Given the description of an element on the screen output the (x, y) to click on. 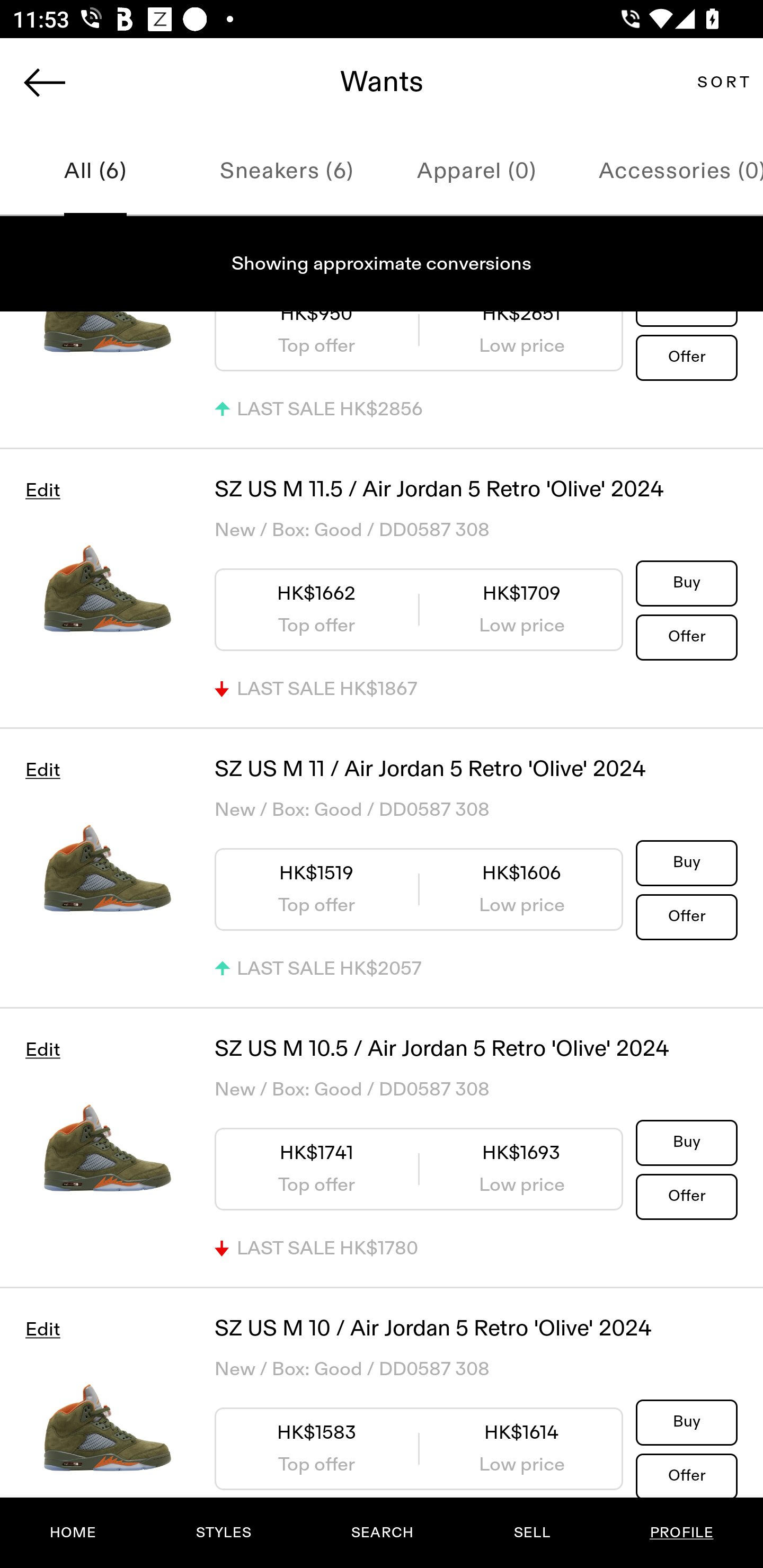
SORT (722, 81)
Sneakers (6) (285, 171)
Apparel (0) (476, 171)
Accessories (0) (667, 171)
Offer (686, 356)
Edit (42, 490)
Buy (686, 582)
HK$1662 HK$1709 Top offer Low price (418, 608)
Offer (686, 636)
Edit (42, 769)
Buy (686, 861)
HK$1519 HK$1606 Top offer Low price (418, 889)
Offer (686, 916)
Edit (42, 1049)
Buy (686, 1141)
HK$1741 HK$1693 Top offer Low price (418, 1168)
Offer (686, 1195)
Edit (42, 1329)
Buy (686, 1421)
HK$1583 HK$1614 Top offer Low price (418, 1448)
Offer (686, 1475)
HOME (72, 1532)
STYLES (222, 1532)
SEARCH (381, 1532)
SELL (531, 1532)
PROFILE (681, 1532)
